Given the description of an element on the screen output the (x, y) to click on. 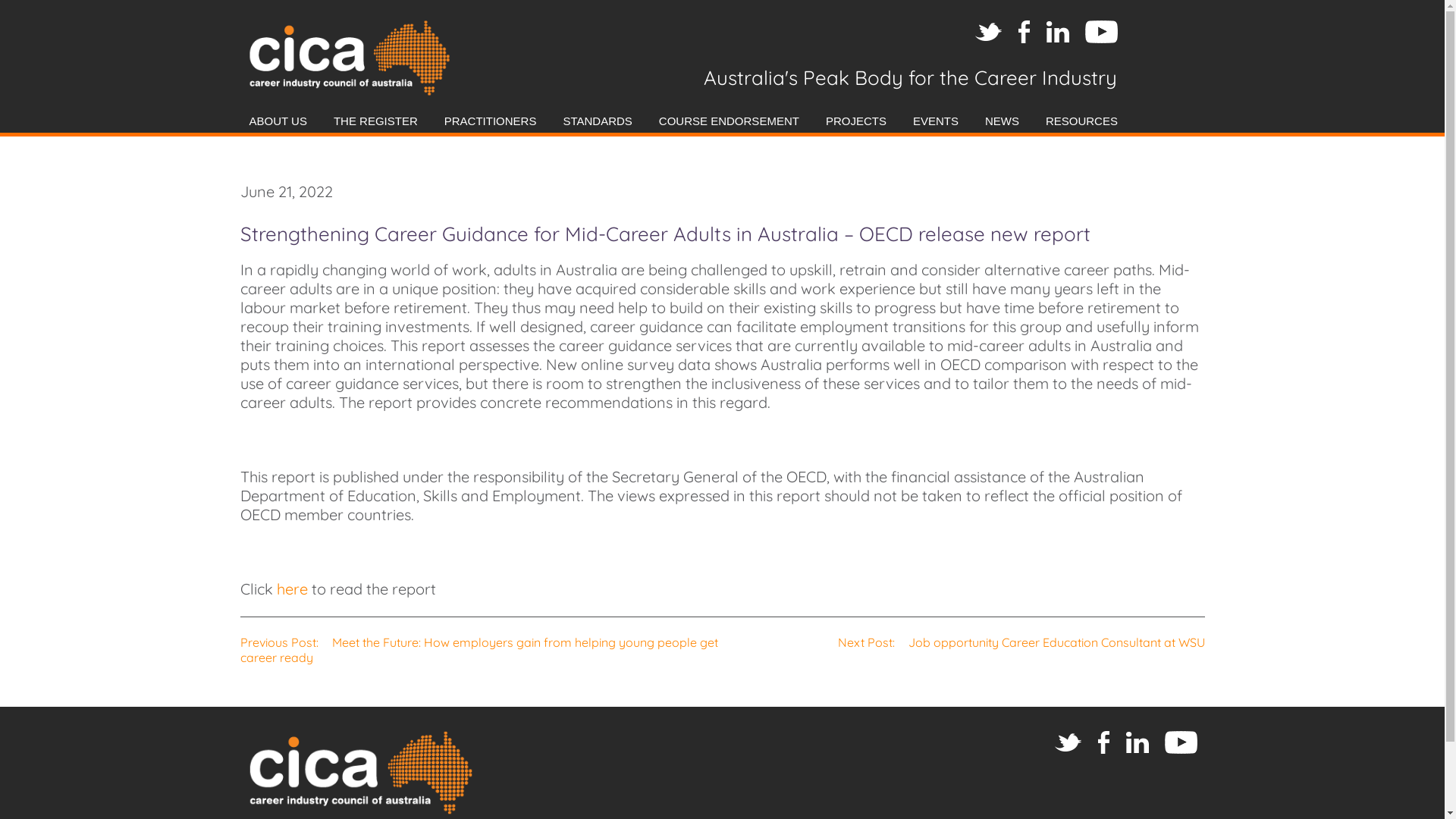
PROJECTS Element type: text (855, 120)
STANDARDS Element type: text (596, 120)
THE REGISTER Element type: text (375, 120)
NEWS Element type: text (1002, 120)
here Element type: text (291, 588)
Skip to content Element type: text (714, 101)
COURSE ENDORSEMENT Element type: text (729, 120)
RESOURCES Element type: text (1081, 120)
PRACTITIONERS Element type: text (490, 120)
EVENTS Element type: text (935, 120)
ABOUT US Element type: text (278, 120)
